Given the description of an element on the screen output the (x, y) to click on. 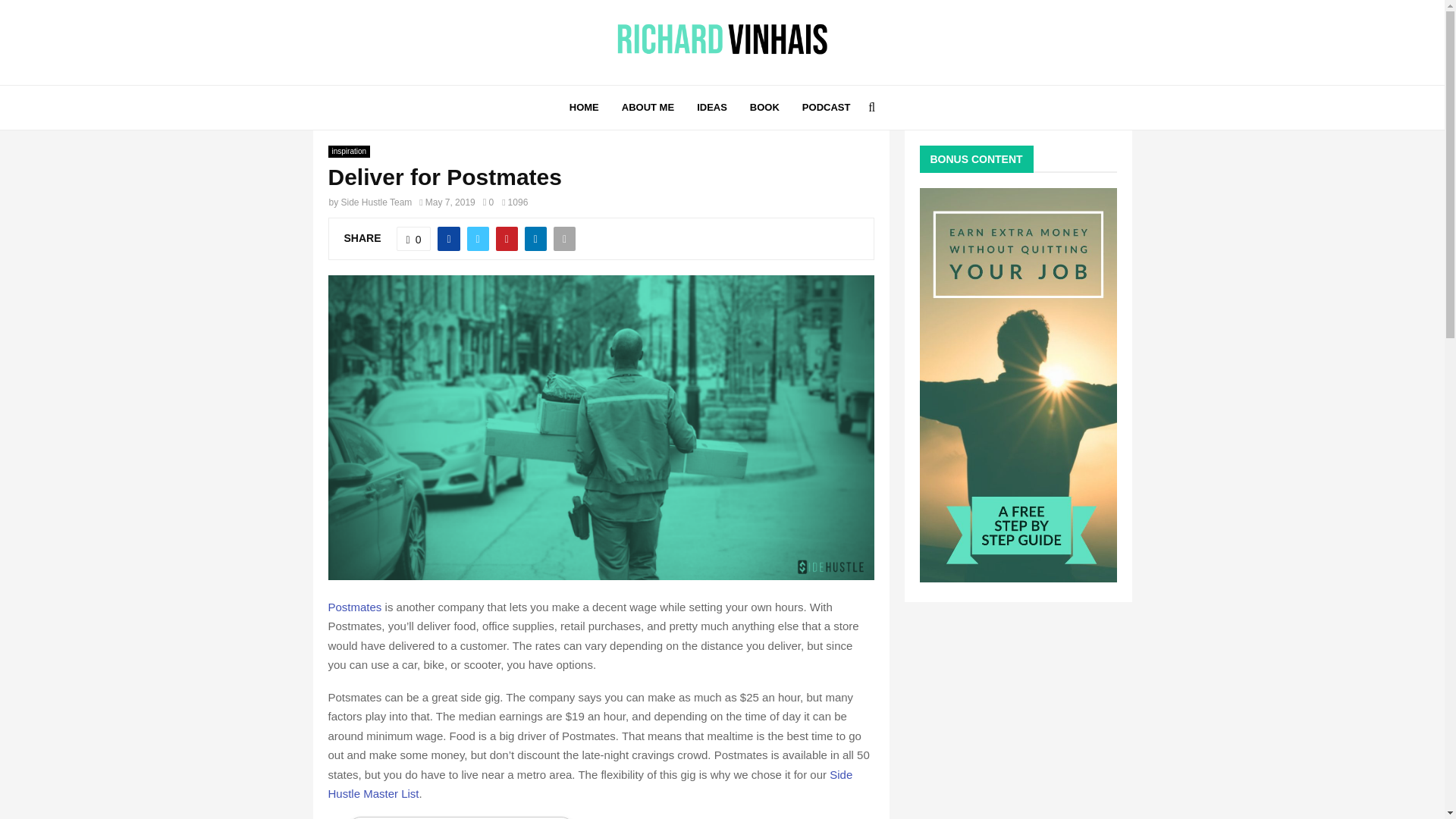
inspiration (348, 151)
ABOUT ME (647, 107)
0 (413, 238)
Side Hustle Master List (589, 784)
0 (488, 202)
Side Hustle Team (376, 202)
Postmates (354, 606)
PODCAST (826, 107)
Like (413, 238)
